Given the description of an element on the screen output the (x, y) to click on. 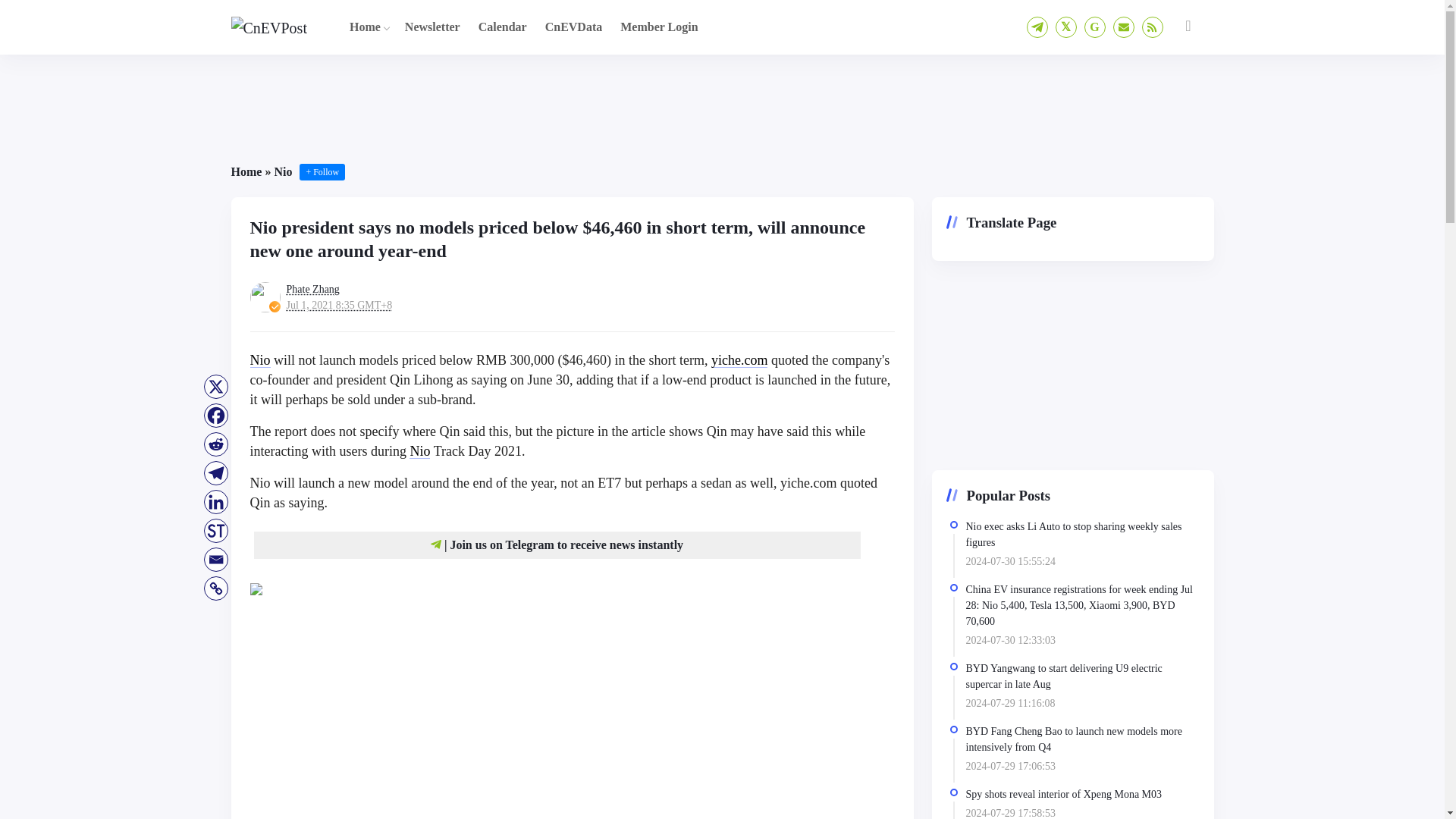
Nio (419, 450)
Newsletter (431, 27)
Nio (260, 359)
Member Login (658, 27)
Home (365, 27)
Home (246, 171)
CnEVData (573, 27)
X (216, 386)
Join us on Telegram to receive news instantly (565, 544)
Calendar (501, 27)
G (1094, 26)
yiche.com (739, 359)
Nio (282, 171)
